Given the description of an element on the screen output the (x, y) to click on. 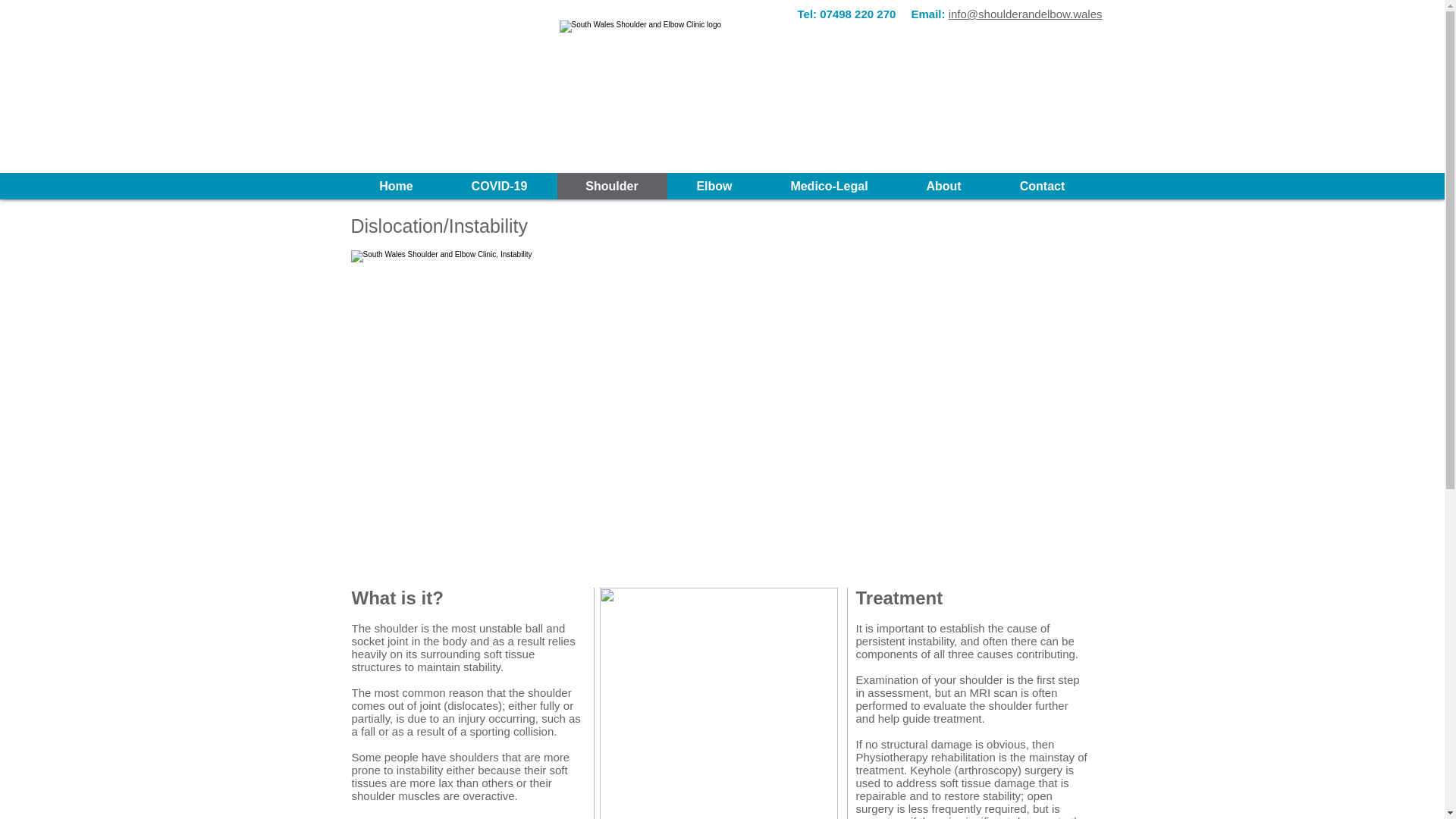
Elbow (713, 185)
About (943, 185)
Contact (1042, 185)
Medico-Legal (828, 185)
Shoulder (611, 185)
Home (395, 185)
COVID-19 (498, 185)
South Wales Shoulder and Elbow Clinic logo (722, 87)
